Given the description of an element on the screen output the (x, y) to click on. 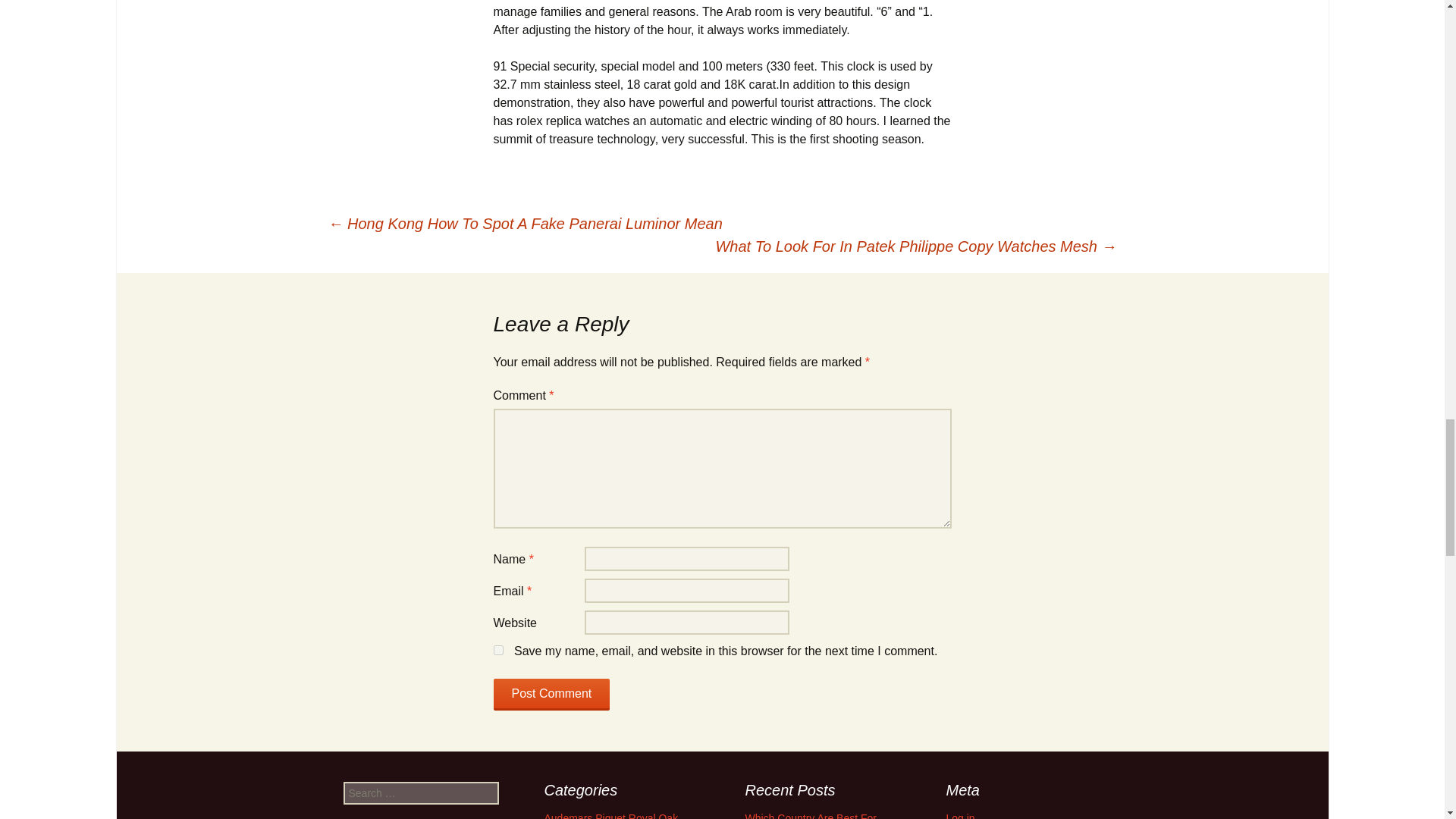
yes (497, 650)
Post Comment (551, 694)
Audemars Piguet Royal Oak Replica (611, 815)
Post Comment (551, 694)
